Given the description of an element on the screen output the (x, y) to click on. 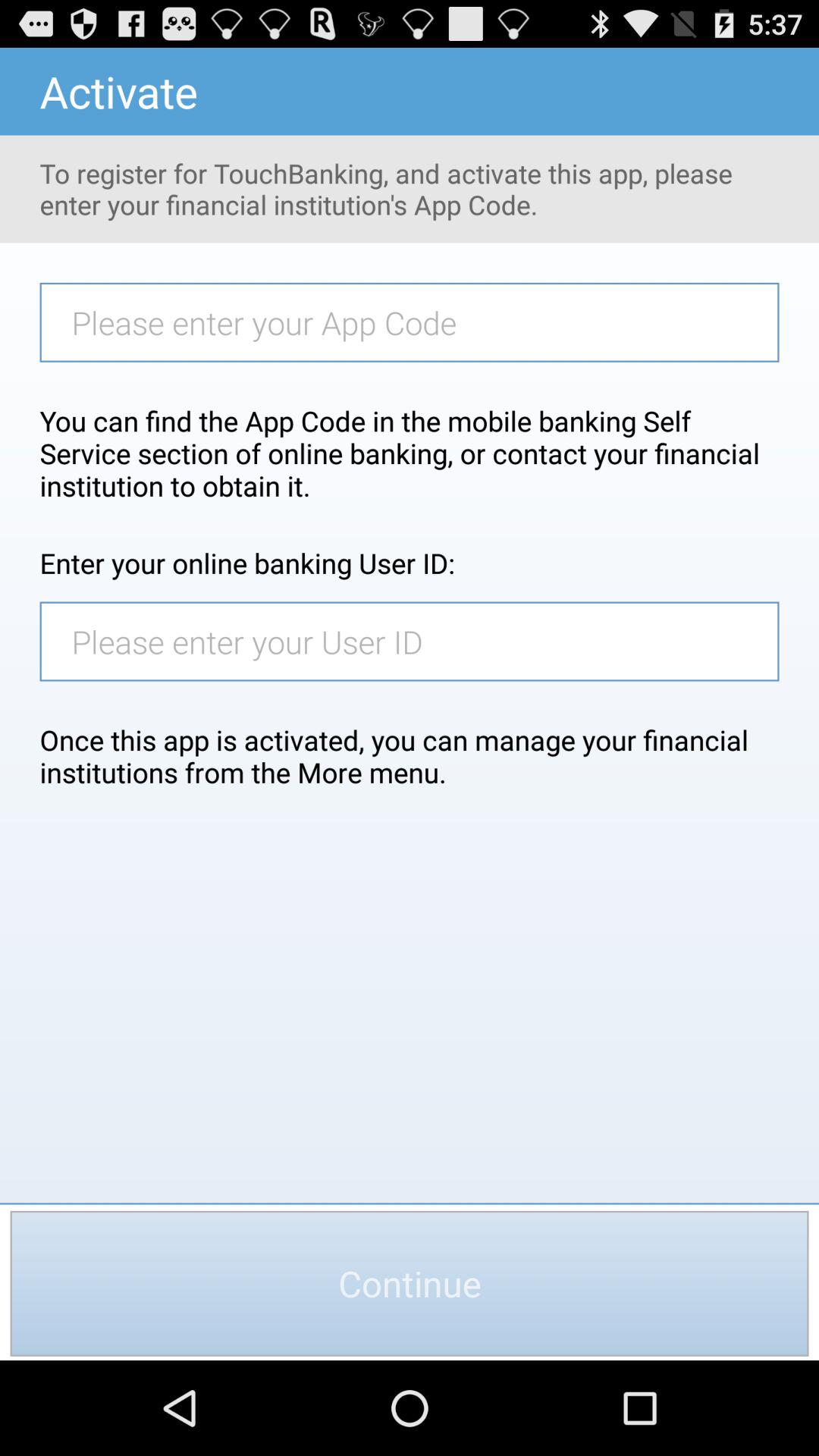
tap the icon below the enter your online (417, 641)
